Given the description of an element on the screen output the (x, y) to click on. 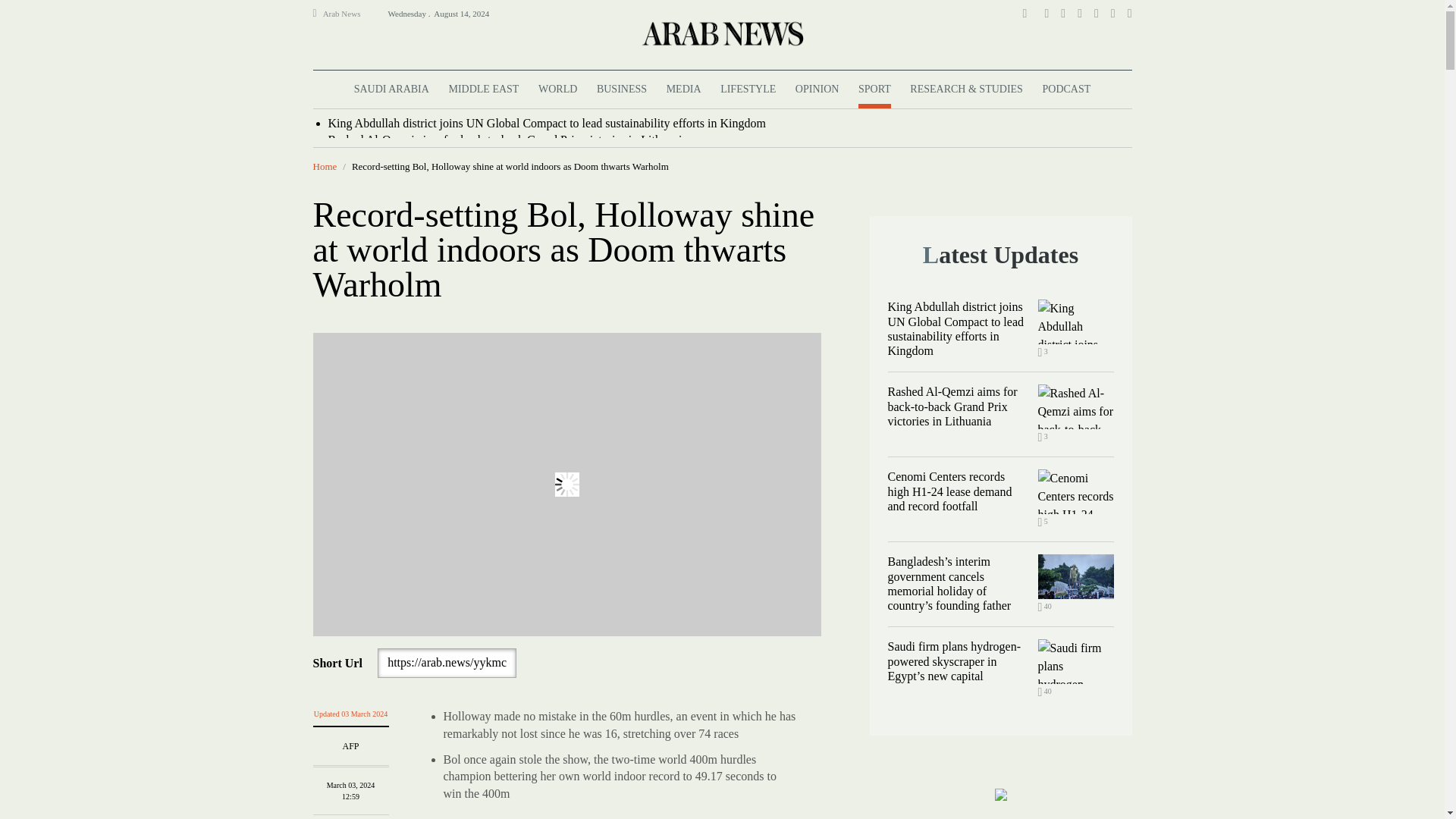
Arabnews (721, 33)
Arab News (348, 13)
